Given the description of an element on the screen output the (x, y) to click on. 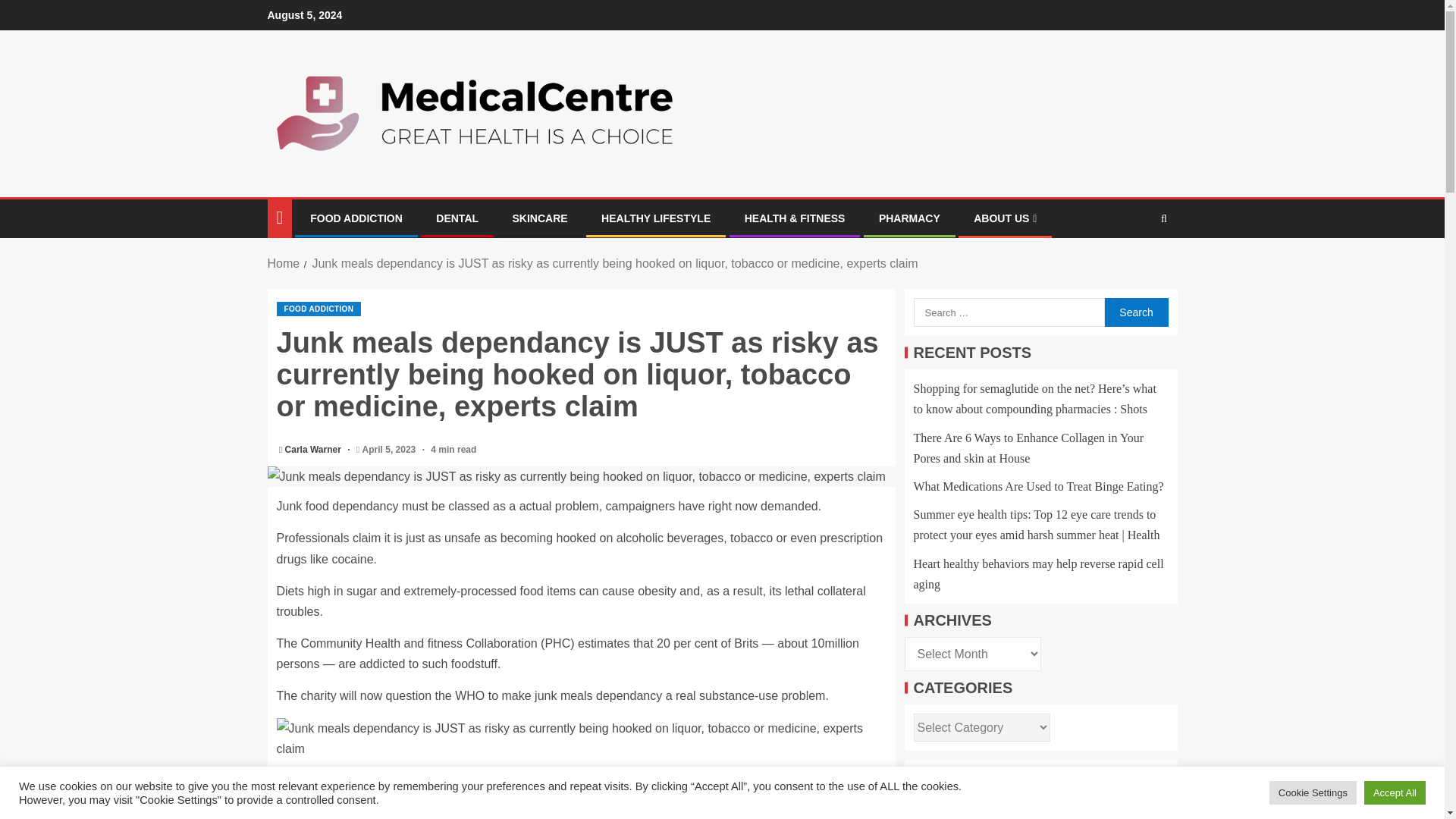
Search (1135, 312)
ABOUT US (1005, 218)
SKINCARE (539, 218)
Search (1133, 265)
PHARMACY (909, 218)
FOOD ADDICTION (318, 309)
Home (282, 263)
FOOD ADDICTION (356, 218)
DENTAL (457, 218)
Carla Warner (314, 449)
Search (1135, 312)
HEALTHY LIFESTYLE (655, 218)
